Given the description of an element on the screen output the (x, y) to click on. 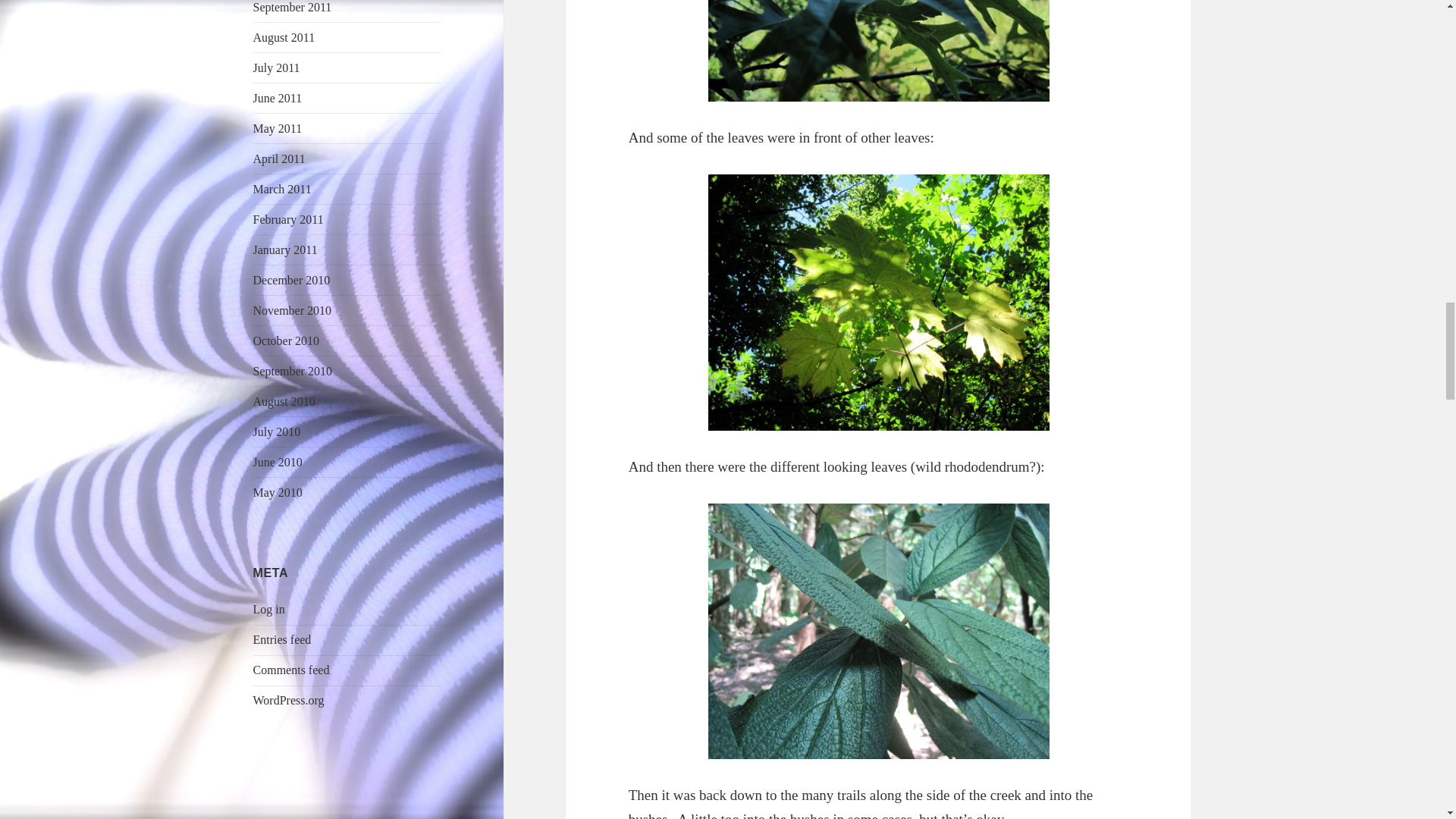
1007 will-leaves (878, 631)
1007 will-leaves on leaves (878, 302)
1007 will-oak (878, 51)
